Given the description of an element on the screen output the (x, y) to click on. 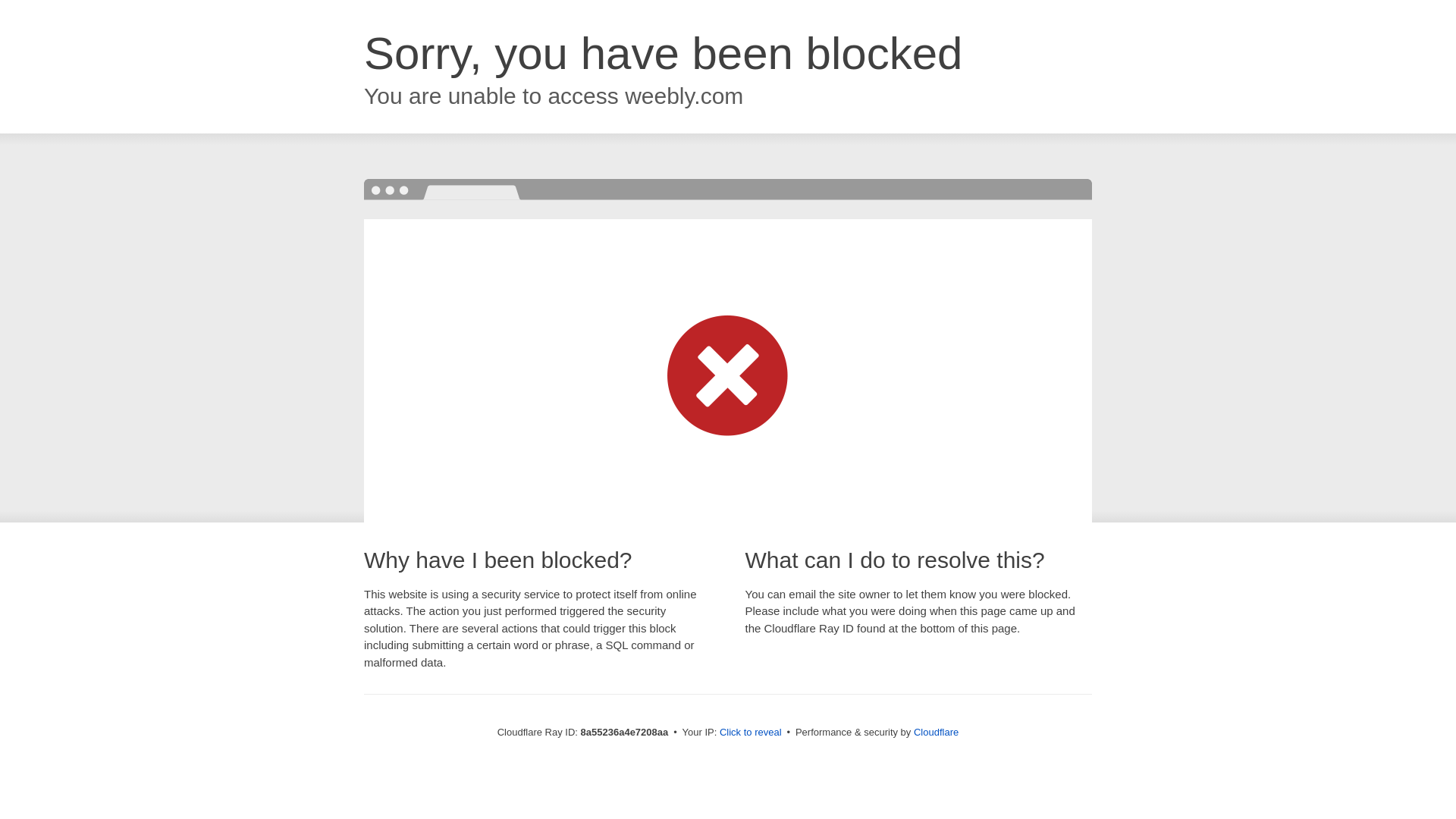
Click to reveal (750, 732)
Cloudflare (936, 731)
